Given the description of an element on the screen output the (x, y) to click on. 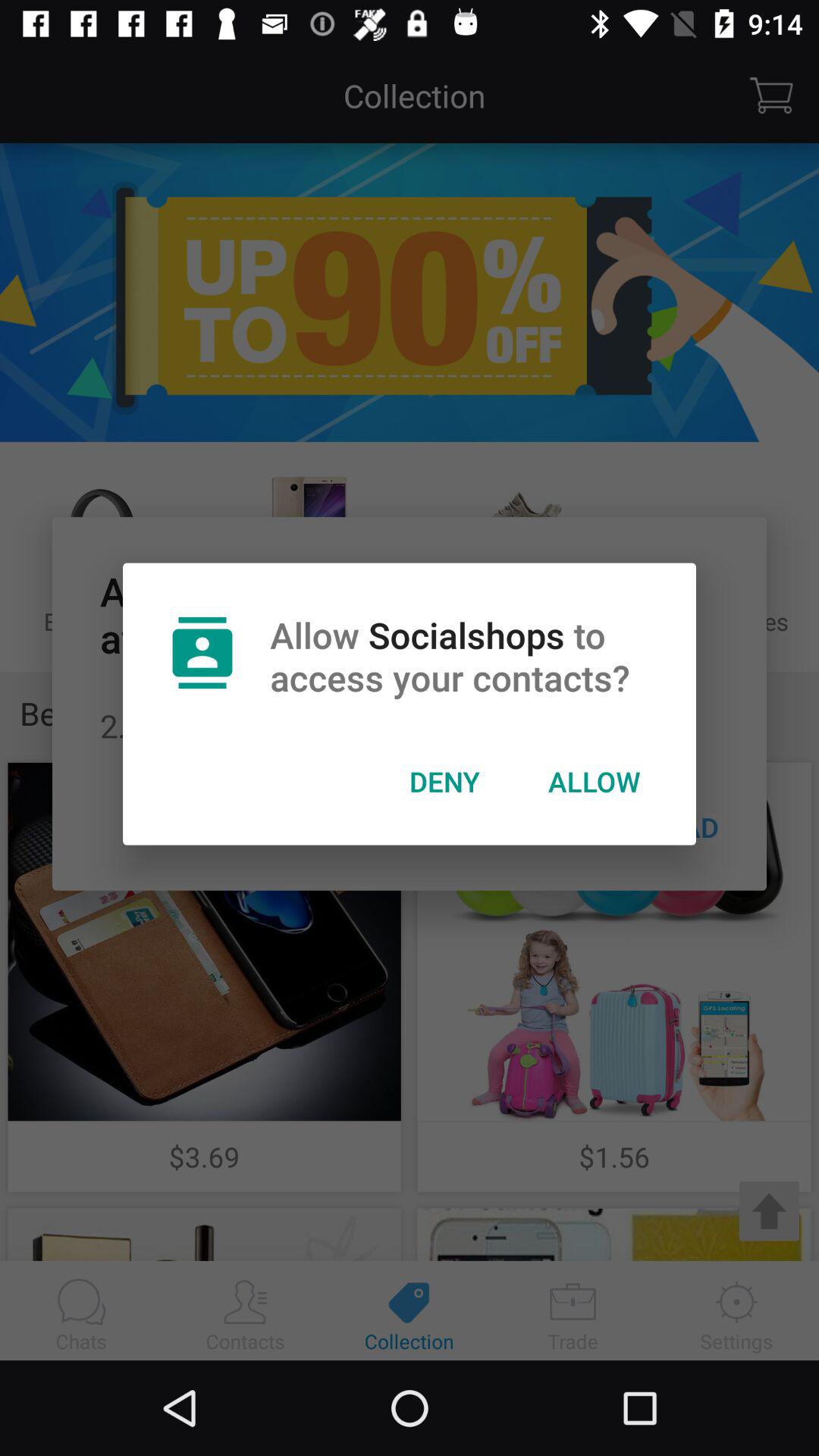
open the deny icon (444, 781)
